Given the description of an element on the screen output the (x, y) to click on. 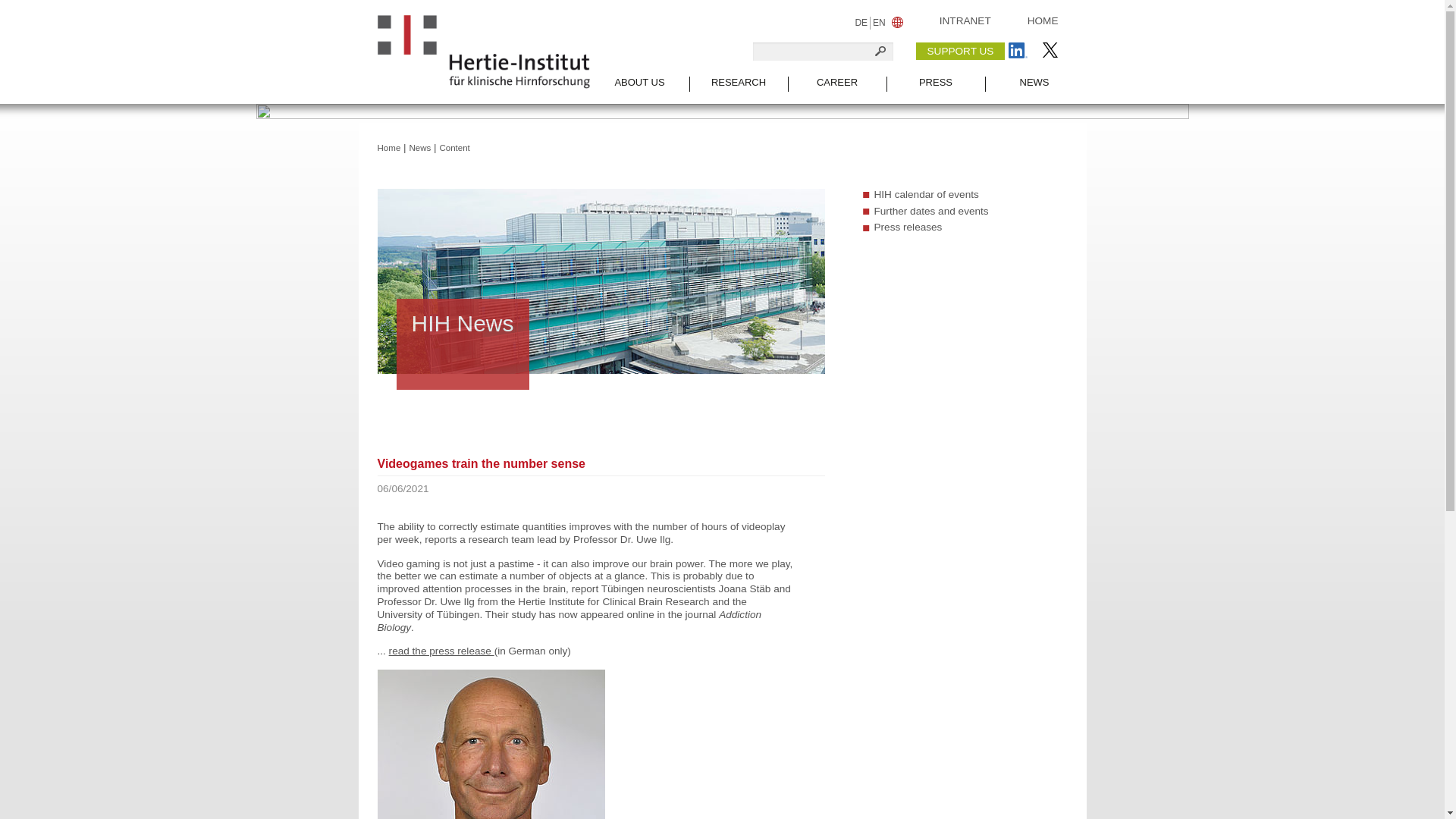
INTRANET (965, 20)
HIH calendar of events (925, 194)
SUPPORT US (960, 50)
Support us (960, 50)
PRESS (934, 89)
CAREER (836, 89)
Login (965, 20)
HOME (1042, 20)
Press releases (907, 226)
NEWS (1033, 89)
EN (879, 22)
RESEARCH (737, 89)
Further dates and events (930, 211)
Opens external link in new window (441, 650)
DE (860, 22)
